Given the description of an element on the screen output the (x, y) to click on. 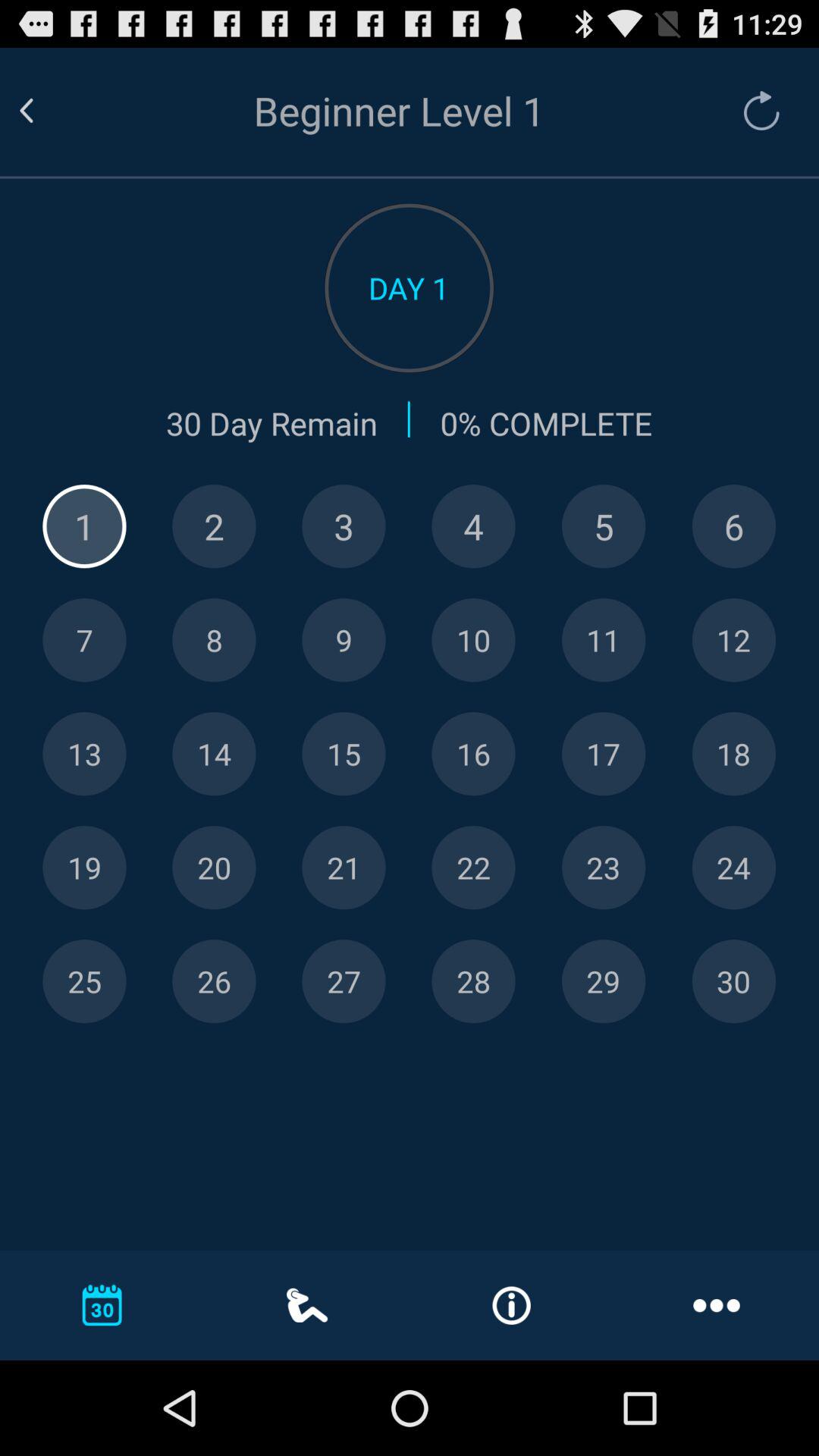
jump to this date (473, 867)
